Given the description of an element on the screen output the (x, y) to click on. 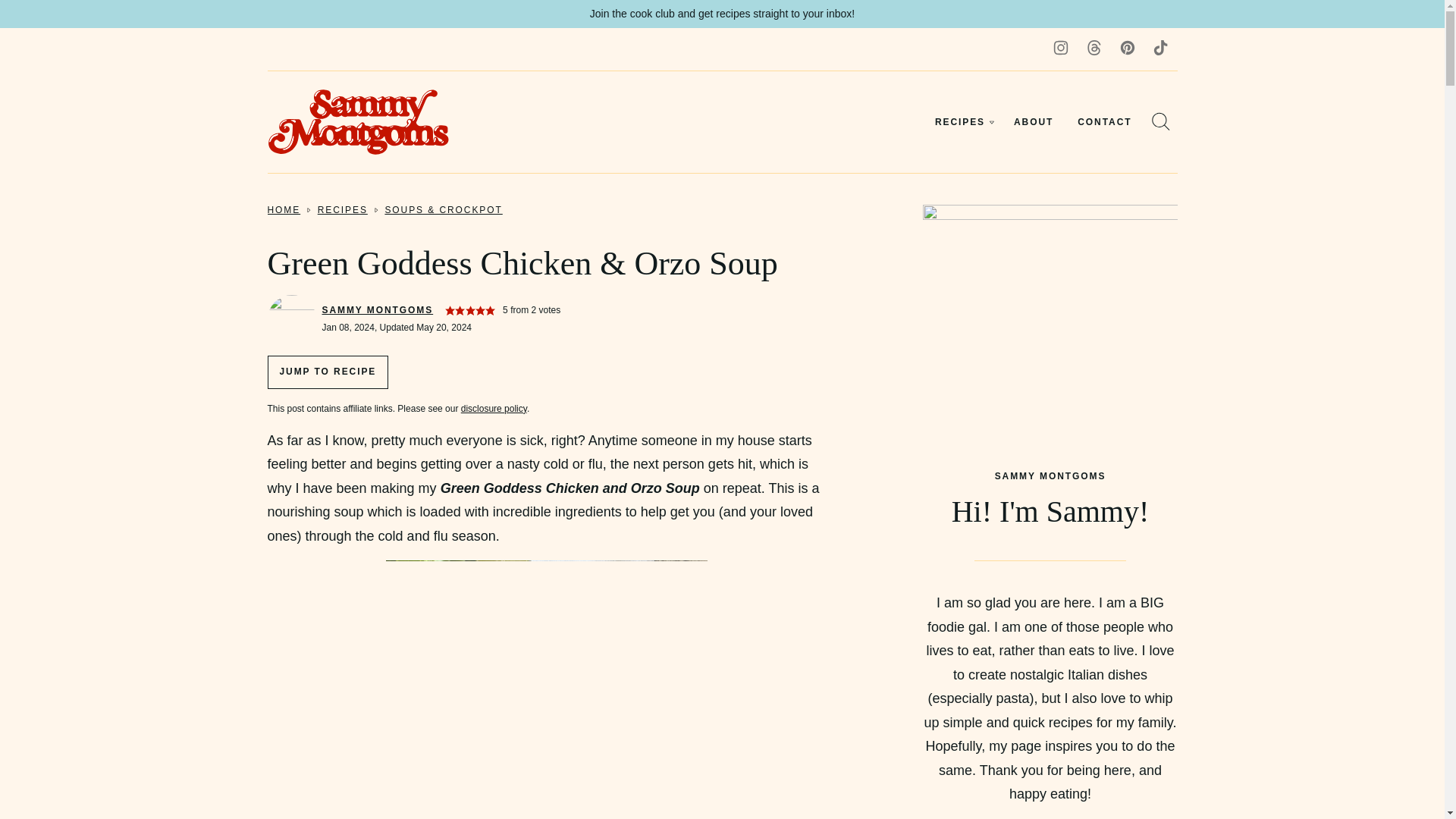
JUMP TO RECIPE (327, 372)
HOME (282, 209)
SAMMY MONTGOMS (376, 309)
CONTACT (1103, 121)
ABOUT (1033, 121)
Join the cook club and get recipes straight to your inbox! (721, 13)
RECIPES (342, 209)
RECIPES (962, 121)
disclosure policy (494, 408)
